Given the description of an element on the screen output the (x, y) to click on. 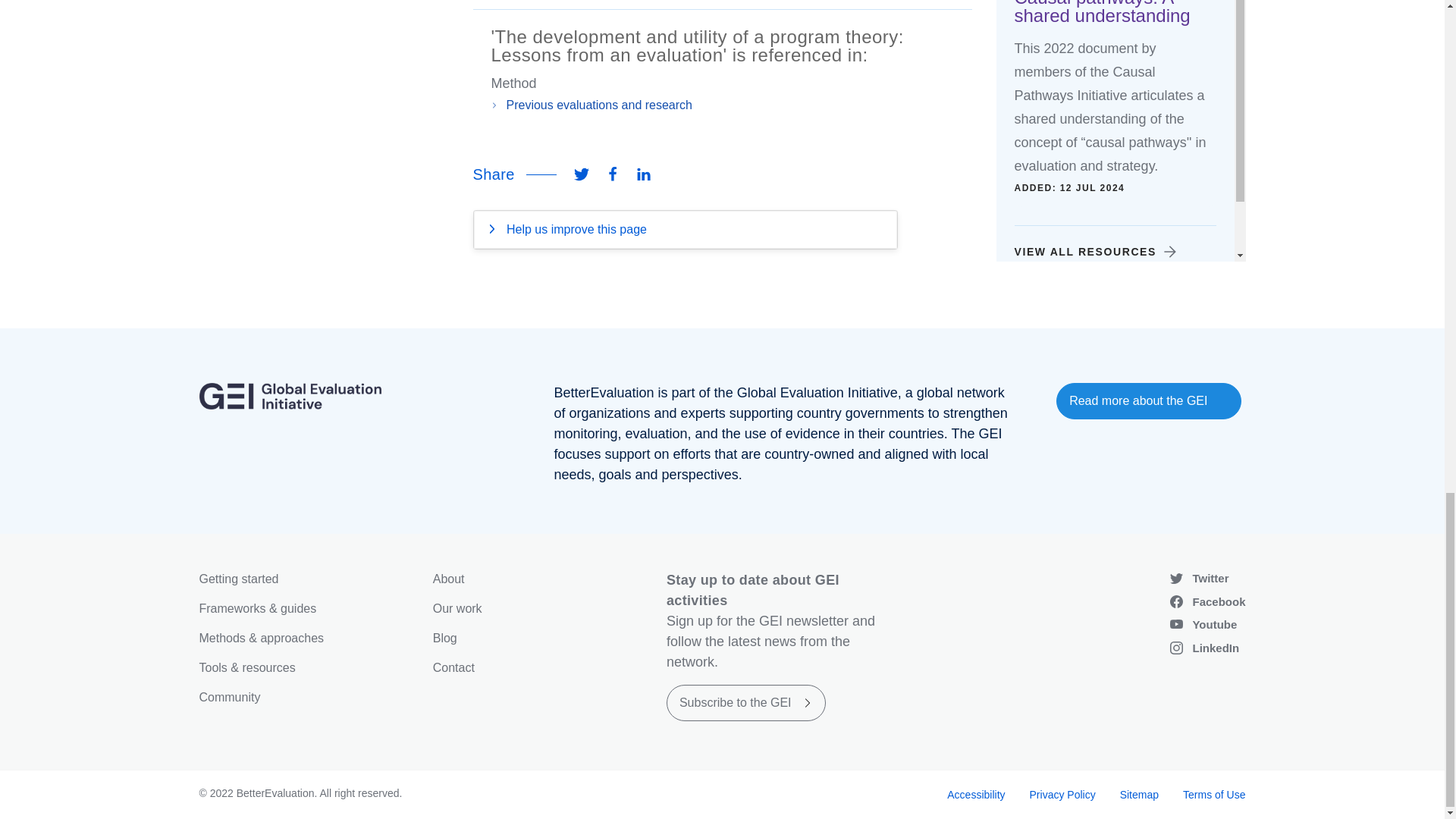
Share this via LinkedIn (644, 174)
Site accessibility (975, 794)
Share this via Facebook (612, 174)
Share this via Twitter (581, 174)
